Given the description of an element on the screen output the (x, y) to click on. 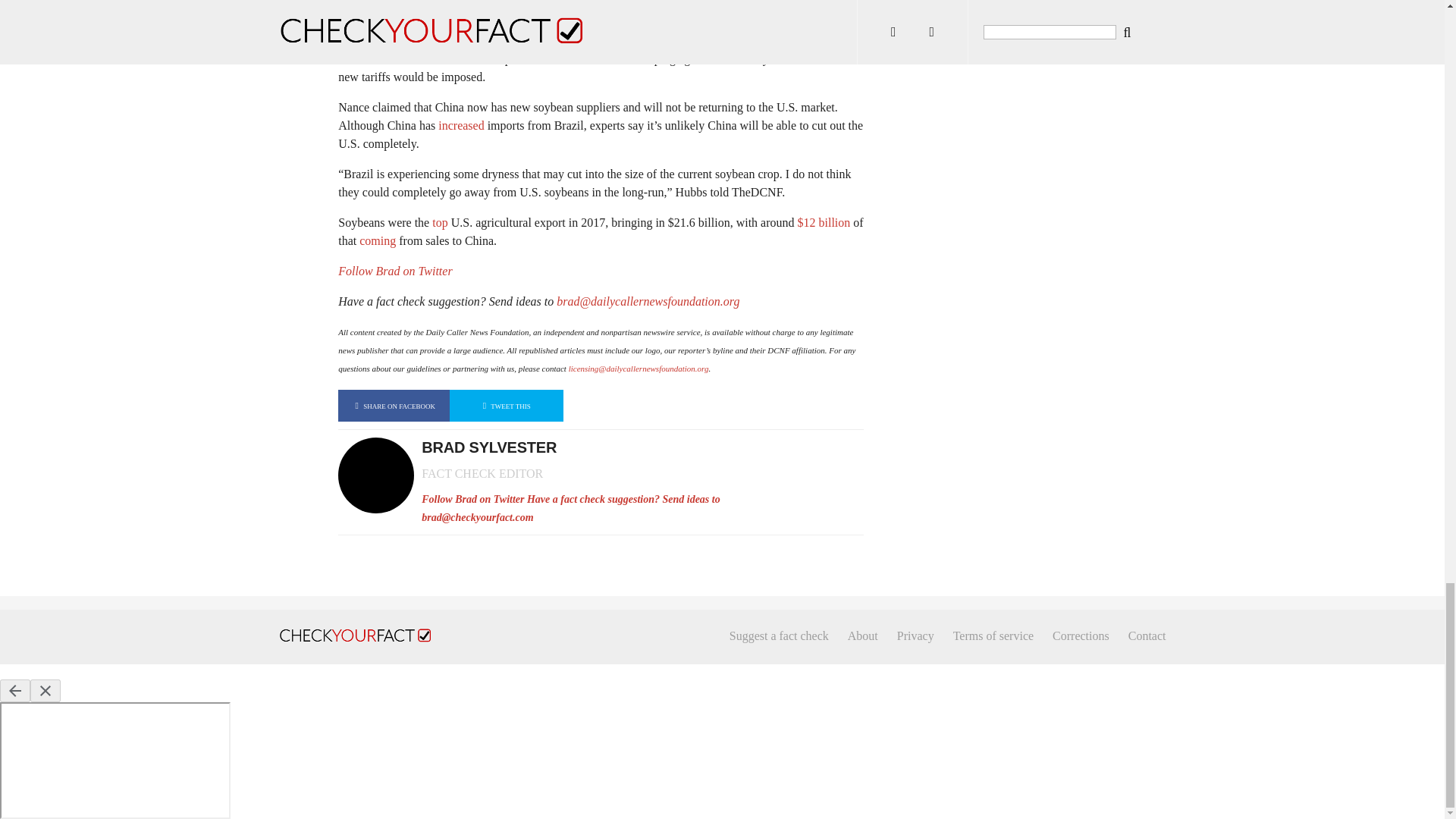
SHARE ON FACEBOOK (394, 405)
TWEET THIS (506, 405)
coming (377, 240)
Follow Brad on Twitter (473, 499)
top (439, 222)
truce (783, 58)
Follow Brad on Twitter (394, 270)
increased (460, 124)
